Given the description of an element on the screen output the (x, y) to click on. 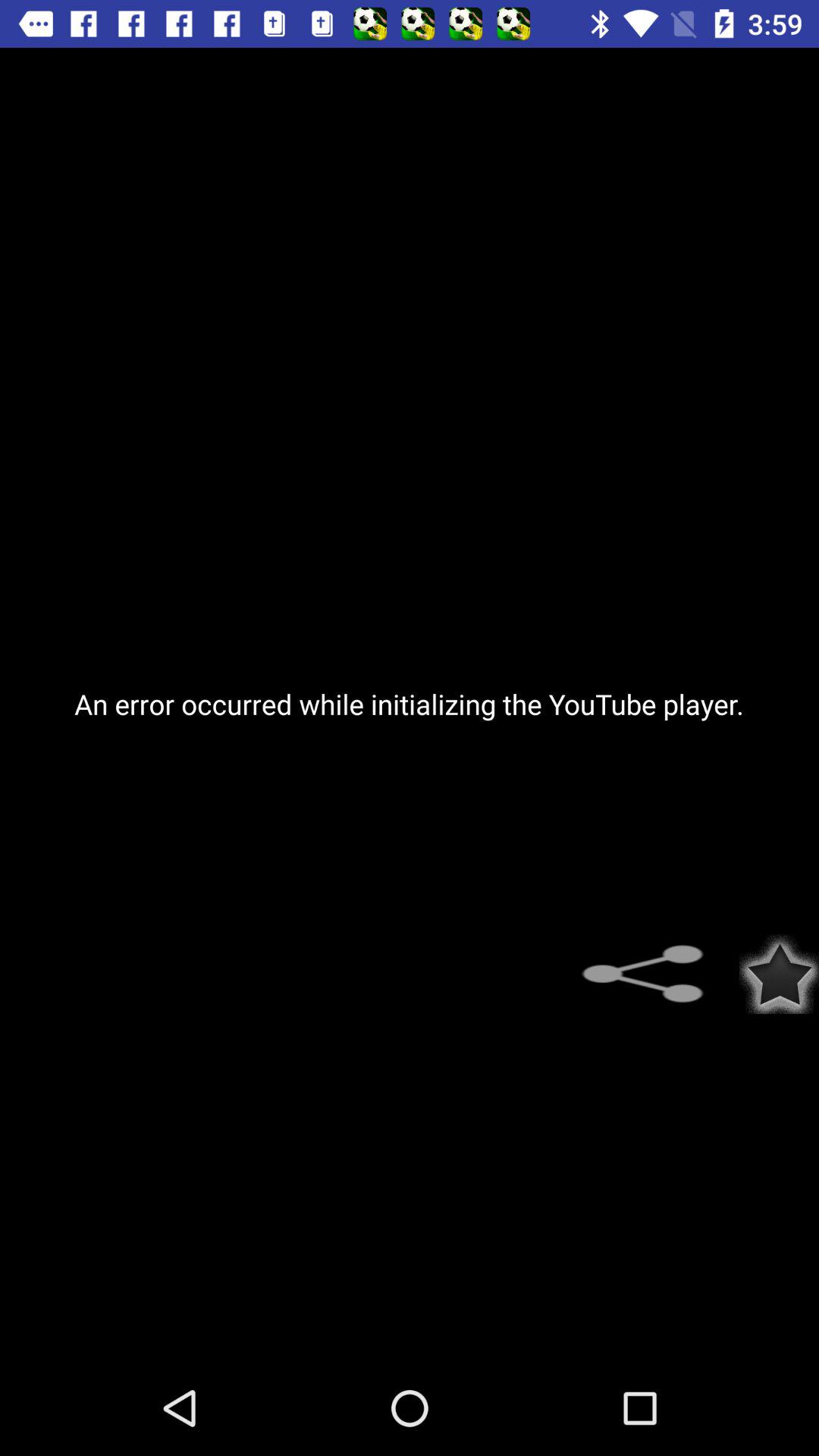
share the article (651, 974)
